Given the description of an element on the screen output the (x, y) to click on. 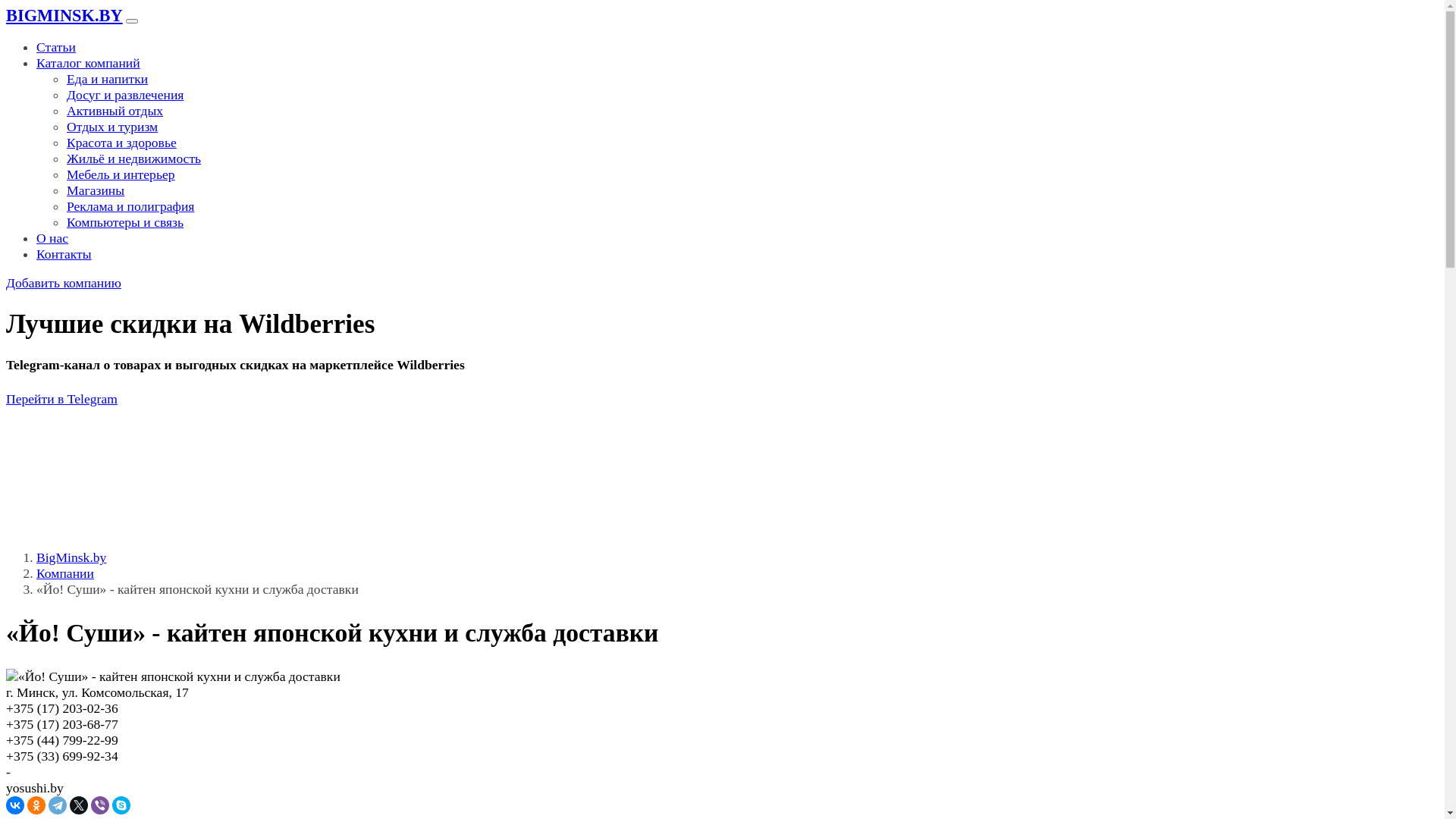
Twitter Element type: hover (78, 805)
BigMinsk.by Element type: text (71, 556)
Viber Element type: hover (100, 805)
Skype Element type: hover (121, 805)
Telegram Element type: hover (57, 805)
BIGMINSK.BY Element type: text (64, 15)
